Given the description of an element on the screen output the (x, y) to click on. 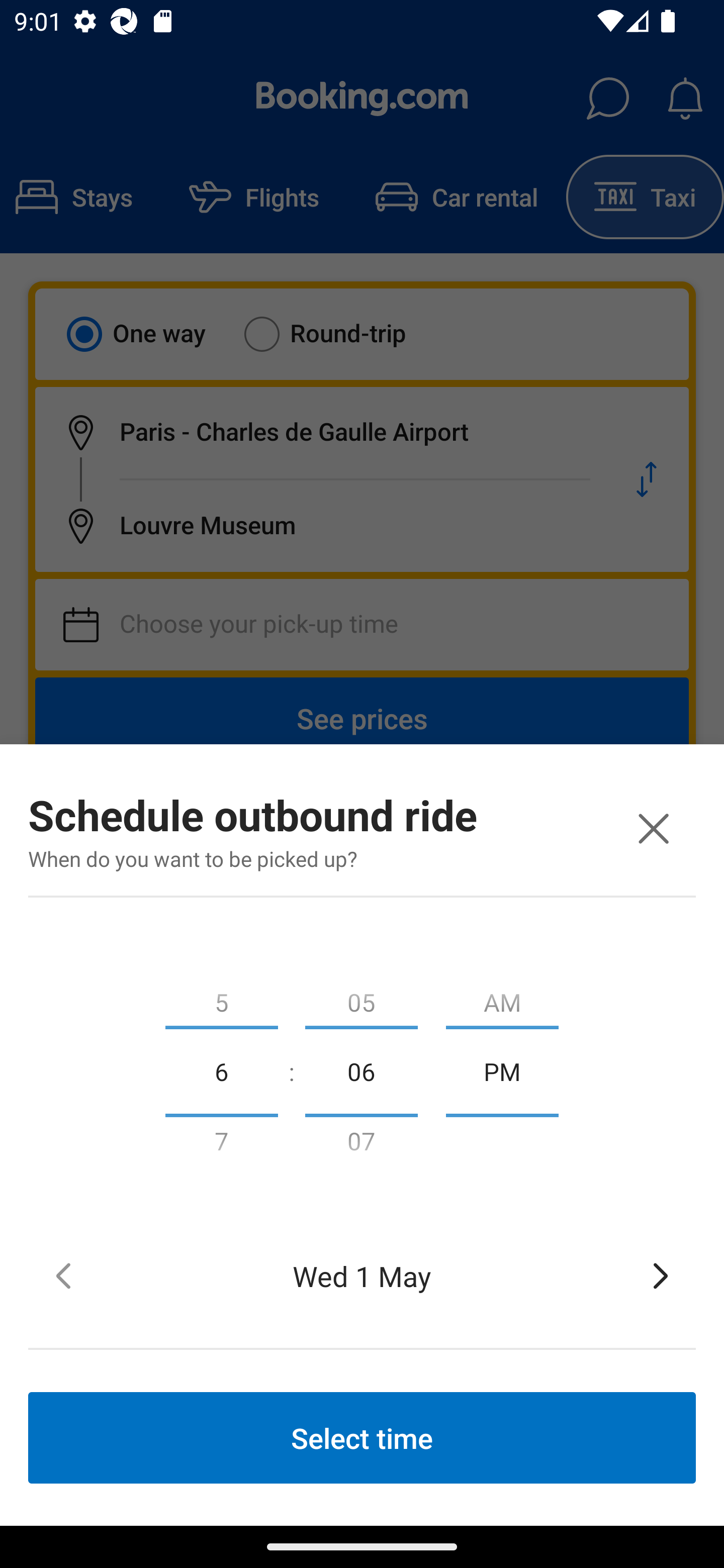
Close window (653, 828)
5 (221, 997)
05 (361, 997)
AM (501, 997)
6 (221, 1070)
06 (361, 1070)
PM (501, 1070)
7 (221, 1144)
07 (361, 1144)
Tap to move back to the previous date (63, 1275)
Tap to move forward to the next date (660, 1275)
Wed 1 May Selected date, Wednesday, 1 May (361, 1275)
Select time (361, 1437)
